Given the description of an element on the screen output the (x, y) to click on. 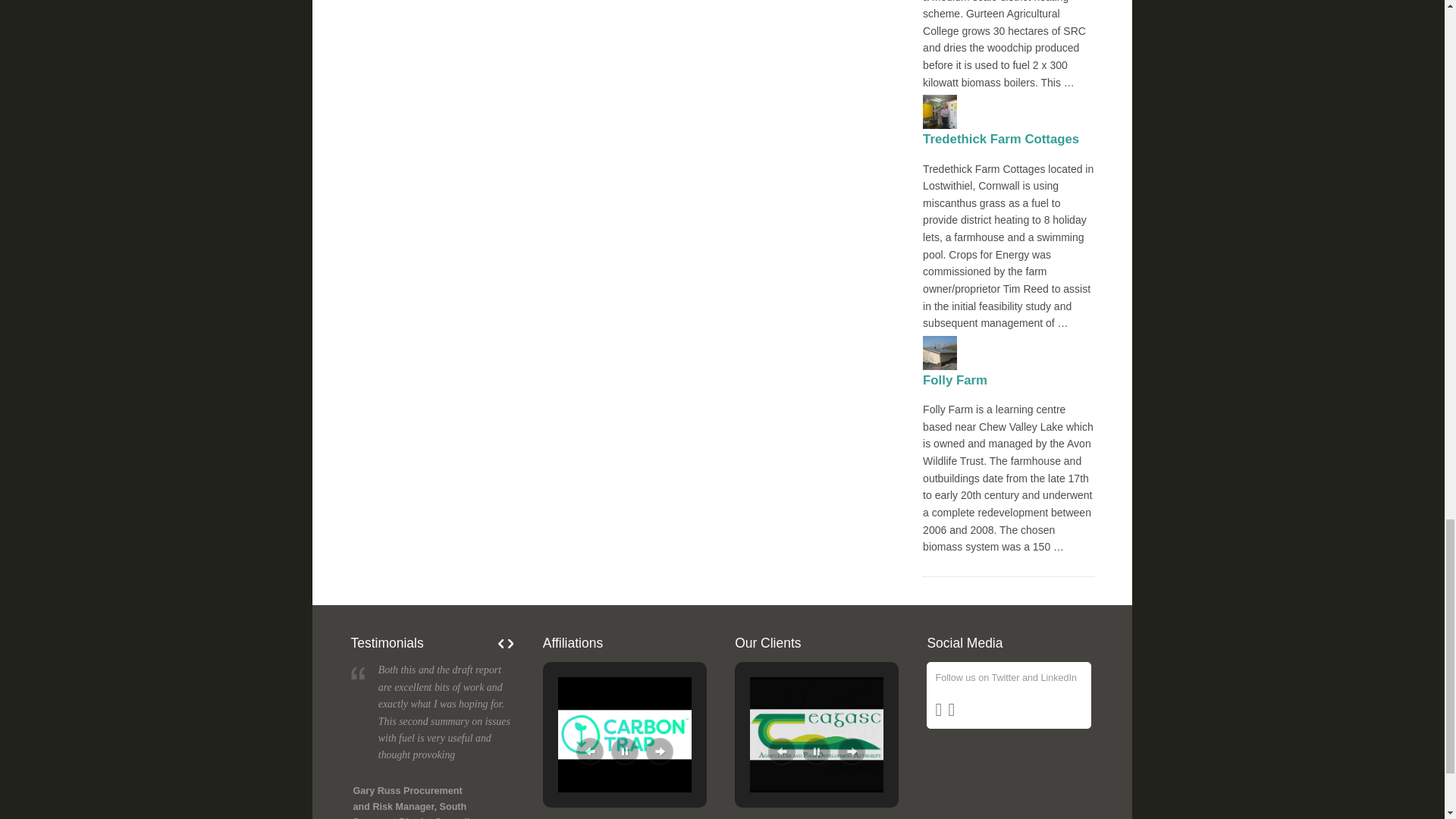
carbon-trap-logo-1622-x-602 (624, 734)
